Given the description of an element on the screen output the (x, y) to click on. 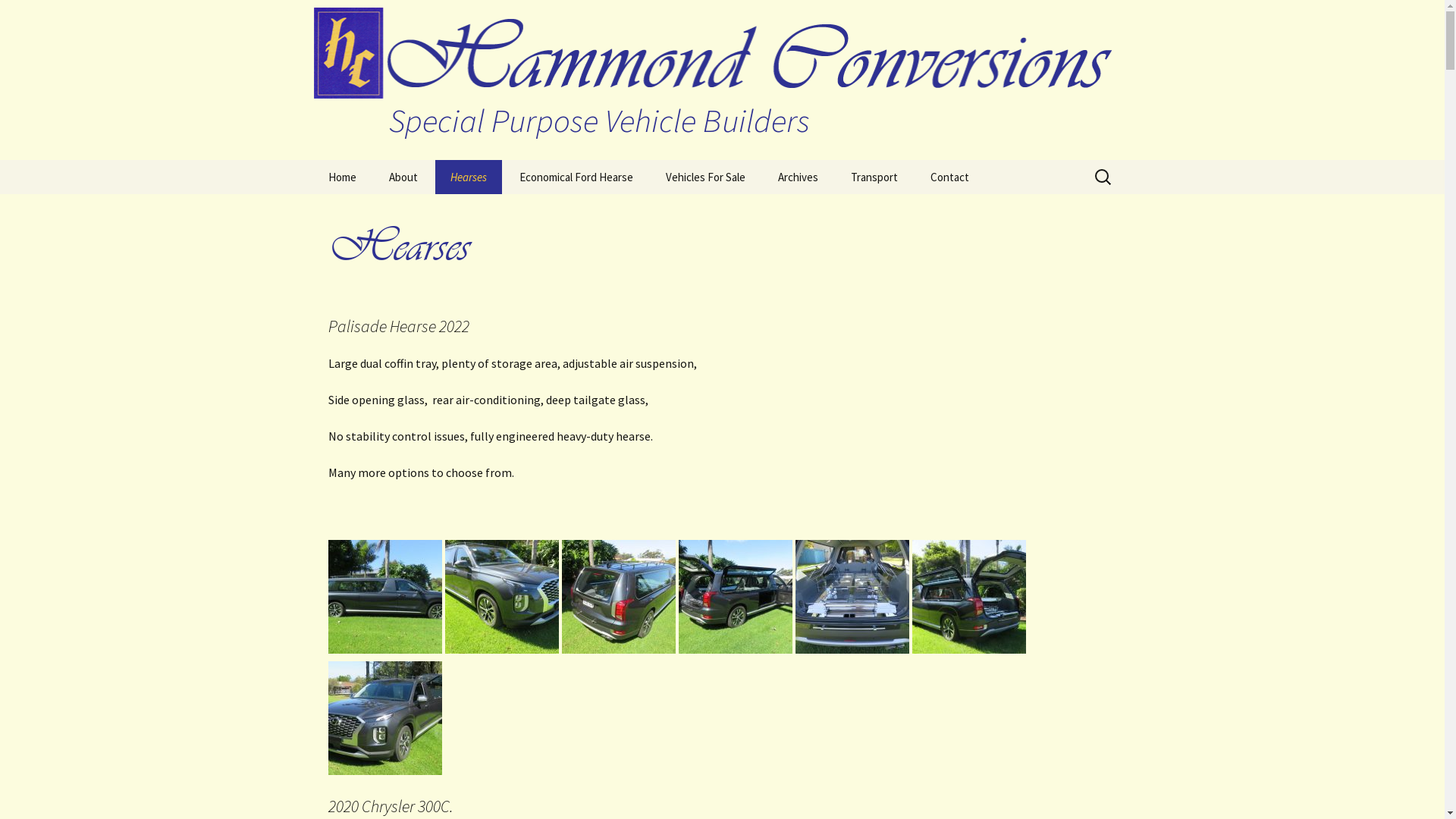
About Element type: text (402, 177)
Special Purpose Vehicle Builders Element type: text (721, 80)
Hearses Element type: text (468, 177)
Transport Element type: text (874, 177)
Economical Ford Hearse Element type: text (575, 177)
Archives Element type: text (797, 177)
Skip to content Element type: text (352, 169)
Contact Element type: text (948, 177)
Search Element type: text (35, 16)
Home Element type: text (341, 177)
Vehicles For Sale Element type: text (705, 177)
